Given the description of an element on the screen output the (x, y) to click on. 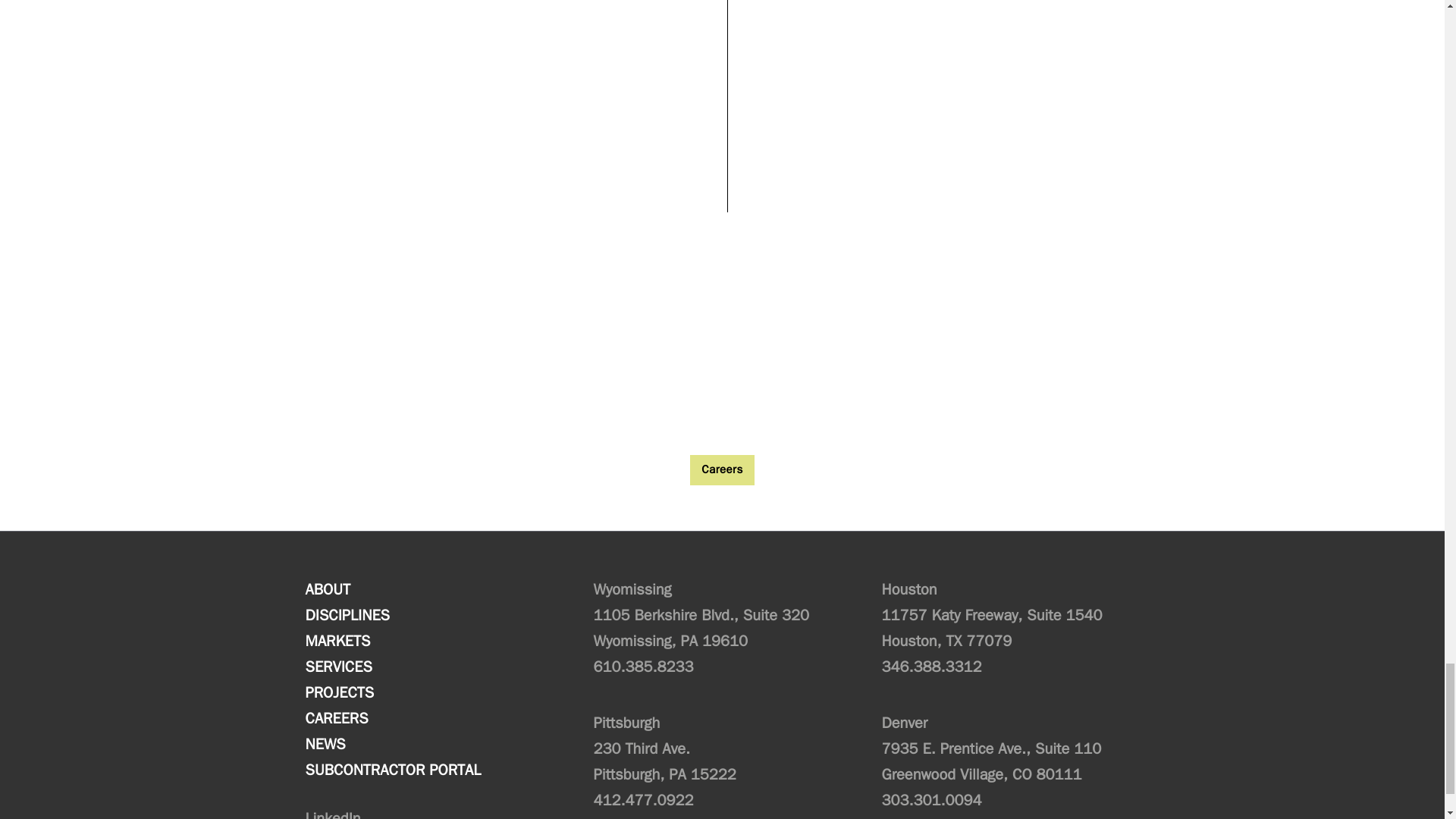
CAREERS (392, 718)
SERVICES (392, 667)
PROJECTS (392, 692)
NEWS (392, 744)
DISCIPLINES (392, 615)
Careers (722, 470)
MARKETS (392, 641)
ABOUT (392, 589)
